Given the description of an element on the screen output the (x, y) to click on. 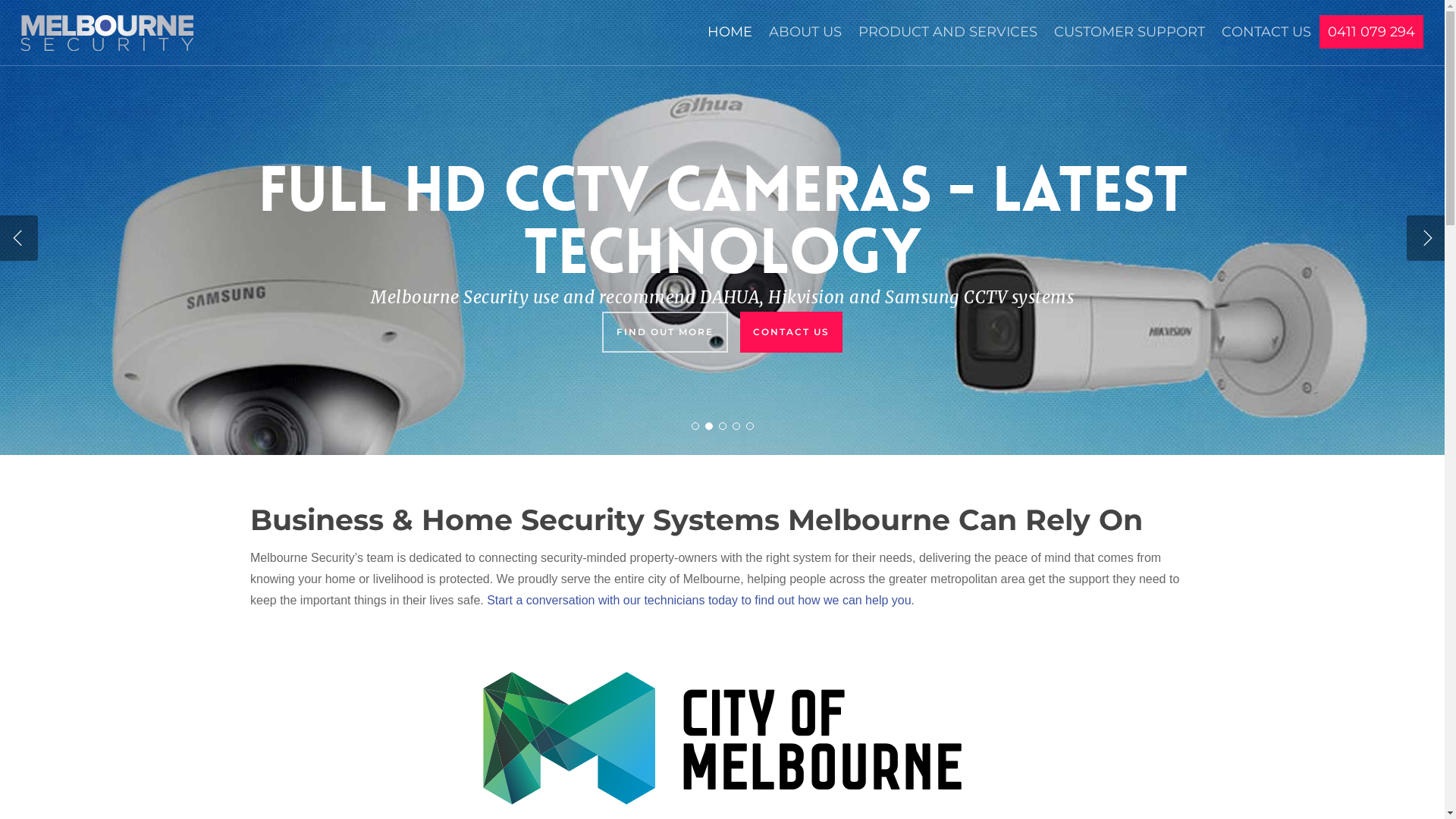
CUSTOMER SUPPORT Element type: text (1129, 39)
CONTACT US Element type: text (791, 331)
FIND OUT MORE Element type: text (665, 331)
PRODUCT AND SERVICES Element type: text (947, 39)
0411 079 294 Element type: text (1371, 31)
HOME Element type: text (729, 39)
CONTACT US Element type: text (1266, 39)
ABOUT US Element type: text (805, 39)
